Given the description of an element on the screen output the (x, y) to click on. 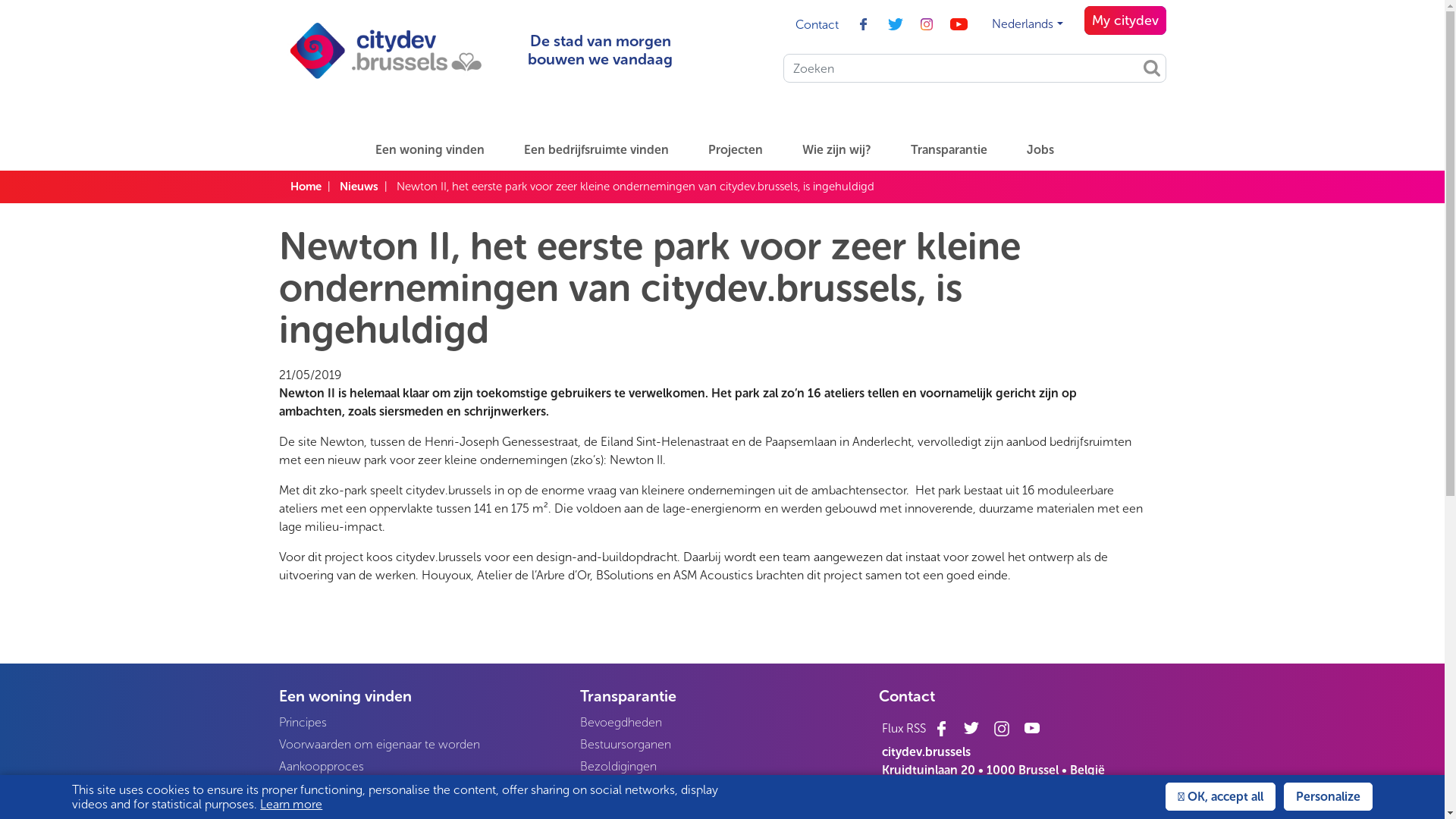
Flux RSS Element type: text (903, 727)
Nieuws Element type: text (358, 186)
Instagram Element type: text (1001, 727)
Aankoopproces Element type: text (418, 765)
Skip to main content Element type: text (0, 0)
Facebook Element type: text (862, 24)
Principes Element type: text (418, 721)
Wie zijn wij? Element type: text (844, 149)
Nederlands Element type: text (1026, 24)
Learn more Element type: text (291, 804)
Twitter Element type: text (971, 727)
Bevoegdheden Element type: text (719, 721)
Instagram Element type: text (926, 24)
Twitter Element type: text (894, 24)
Een woning vinden Element type: text (418, 694)
Contact Element type: text (956, 694)
Appliquer Element type: text (1151, 67)
Transparantie Element type: text (956, 149)
Contact Element type: text (816, 23)
Transparantie Element type: text (719, 694)
Projecten Element type: text (743, 149)
Voorwaarden om eigenaar te worden Element type: text (418, 744)
Woningen te koop, woningen te huur Element type: text (418, 788)
My citydev Element type: text (1125, 20)
Een woning vinden Element type: text (437, 149)
Youtube Element type: text (1031, 727)
Home Element type: text (304, 186)
Facebook Element type: text (940, 727)
Youtube Element type: text (958, 24)
Jobs Element type: text (1047, 149)
Personalize Element type: text (1327, 796)
Bezoldigingen Element type: text (719, 765)
Filosofie Element type: text (719, 788)
Bestuursorganen Element type: text (719, 744)
Een bedrijfsruimte vinden Element type: text (603, 149)
